Given the description of an element on the screen output the (x, y) to click on. 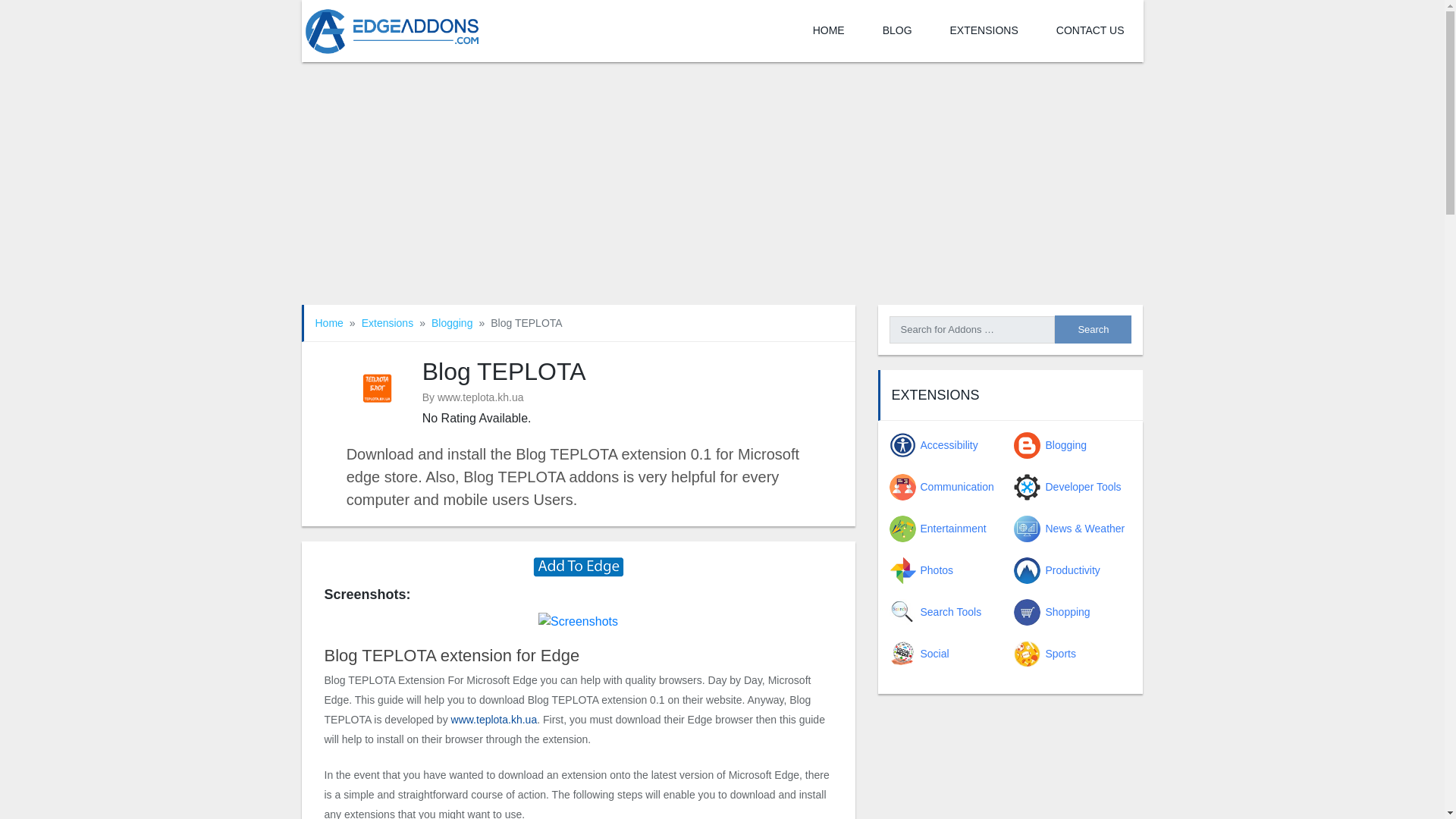
HOME (828, 31)
Search (1092, 329)
Blogging (451, 322)
EXTENSIONS (983, 31)
Home (329, 322)
CONTACT US (1089, 31)
www.teplota.kh.ua (494, 719)
Blog TEPLOTA - Download (577, 565)
Extensions (387, 322)
BLOG (897, 31)
